Given the description of an element on the screen output the (x, y) to click on. 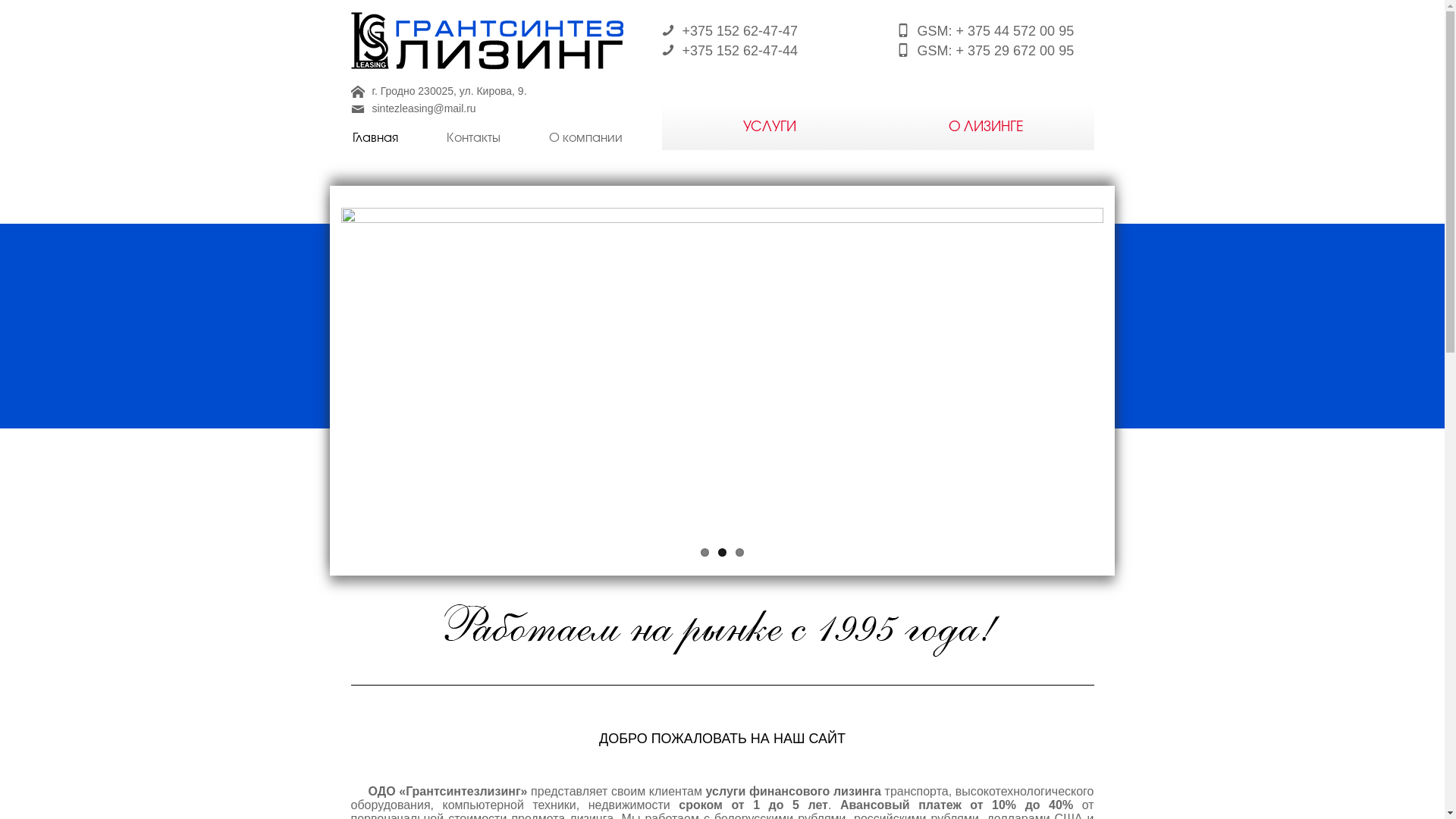
1 Element type: text (704, 552)
3 Element type: text (739, 552)
2 Element type: text (722, 552)
